Given the description of an element on the screen output the (x, y) to click on. 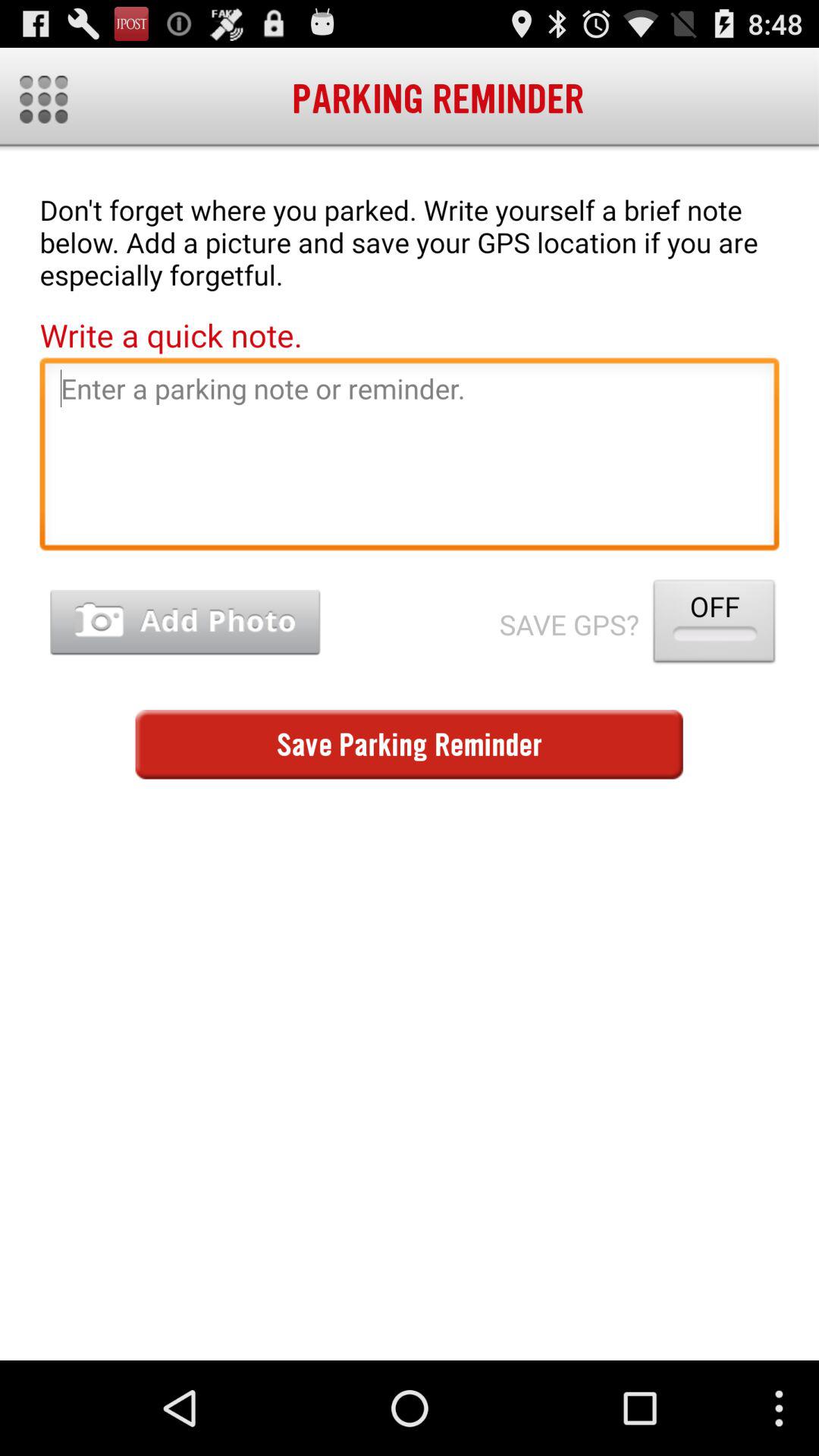
turn off icon next to parking reminder item (43, 99)
